Given the description of an element on the screen output the (x, y) to click on. 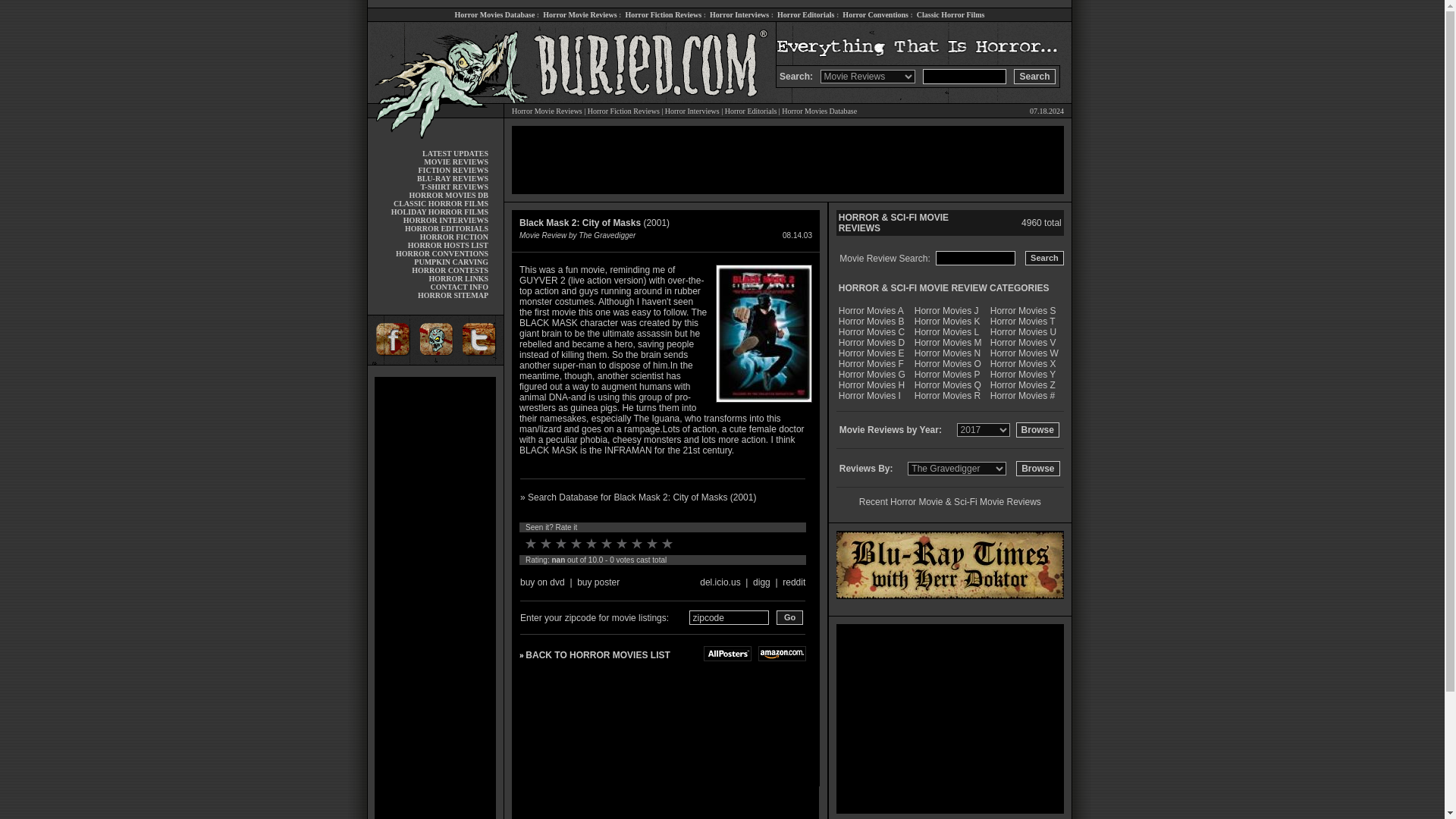
Horror movies, reviews and more at buried.com (435, 133)
Horror movies, reviews and more at buried.com (435, 43)
zipcode (728, 617)
Search (1033, 76)
LATEST UPDATES (454, 153)
Horror Movies Database (494, 14)
Horror Editorials (805, 14)
Horror Fiction Reviews (662, 14)
Horror Interviews (692, 110)
Horror Interviews (739, 14)
HORROR EDITORIALS (445, 228)
Horror movies, reviews and more at buried.com (639, 43)
2 (545, 543)
4 (576, 543)
Classic Horror Films (951, 14)
